Given the description of an element on the screen output the (x, y) to click on. 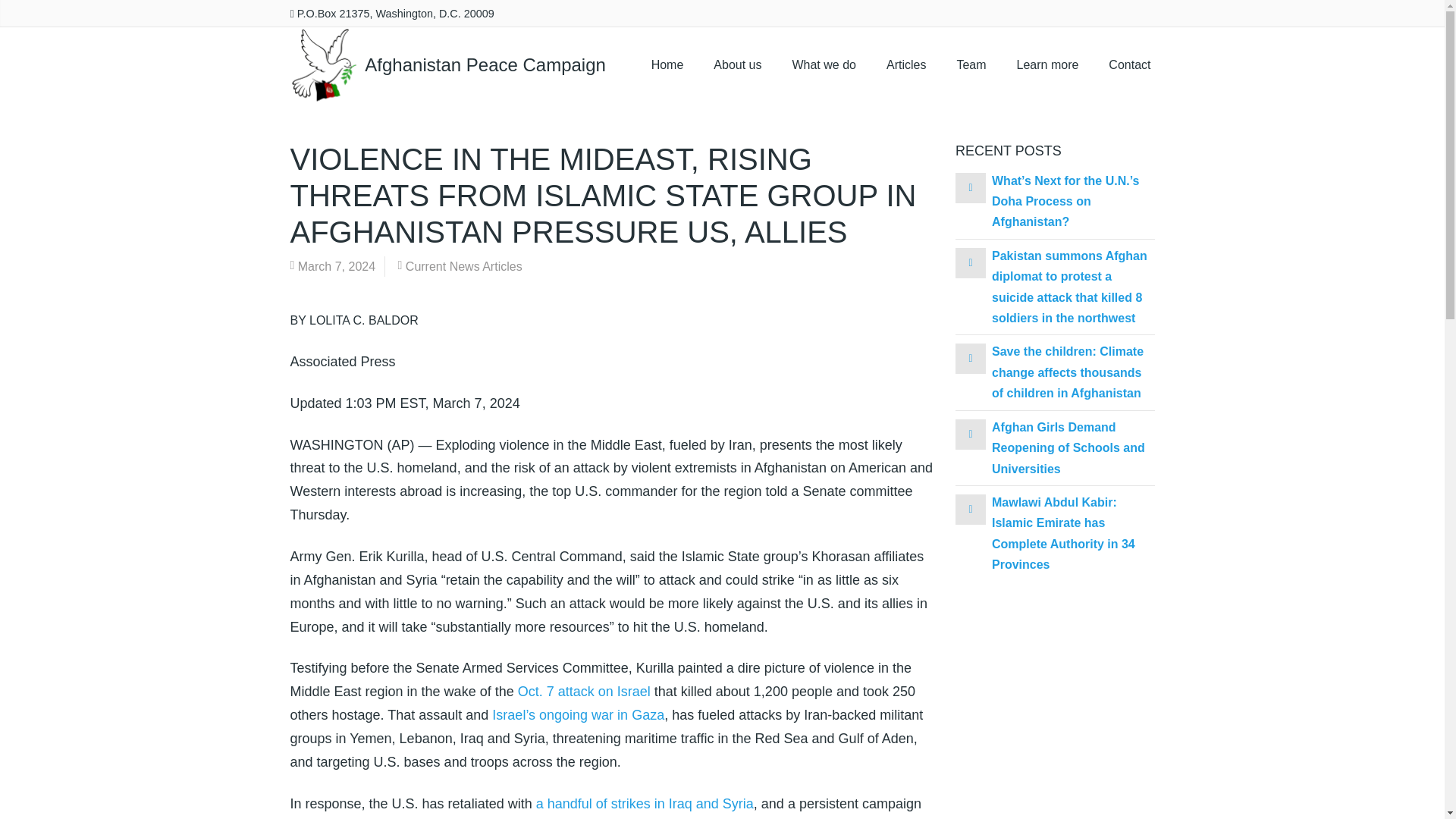
About us (737, 65)
Afghan Girls Demand Reopening of Schools and Universities (970, 432)
Home (667, 65)
Oct. 7 attack on Israel (584, 691)
Afghan Girls Demand Reopening of Schools and Universities (1067, 447)
Afghanistan Peace Campaign (447, 65)
a handful of strikes in Iraq and Syria (644, 803)
Contact (1129, 65)
Afghan Girls Demand Reopening of Schools and Universities (1067, 447)
Current News Articles (464, 266)
